Given the description of an element on the screen output the (x, y) to click on. 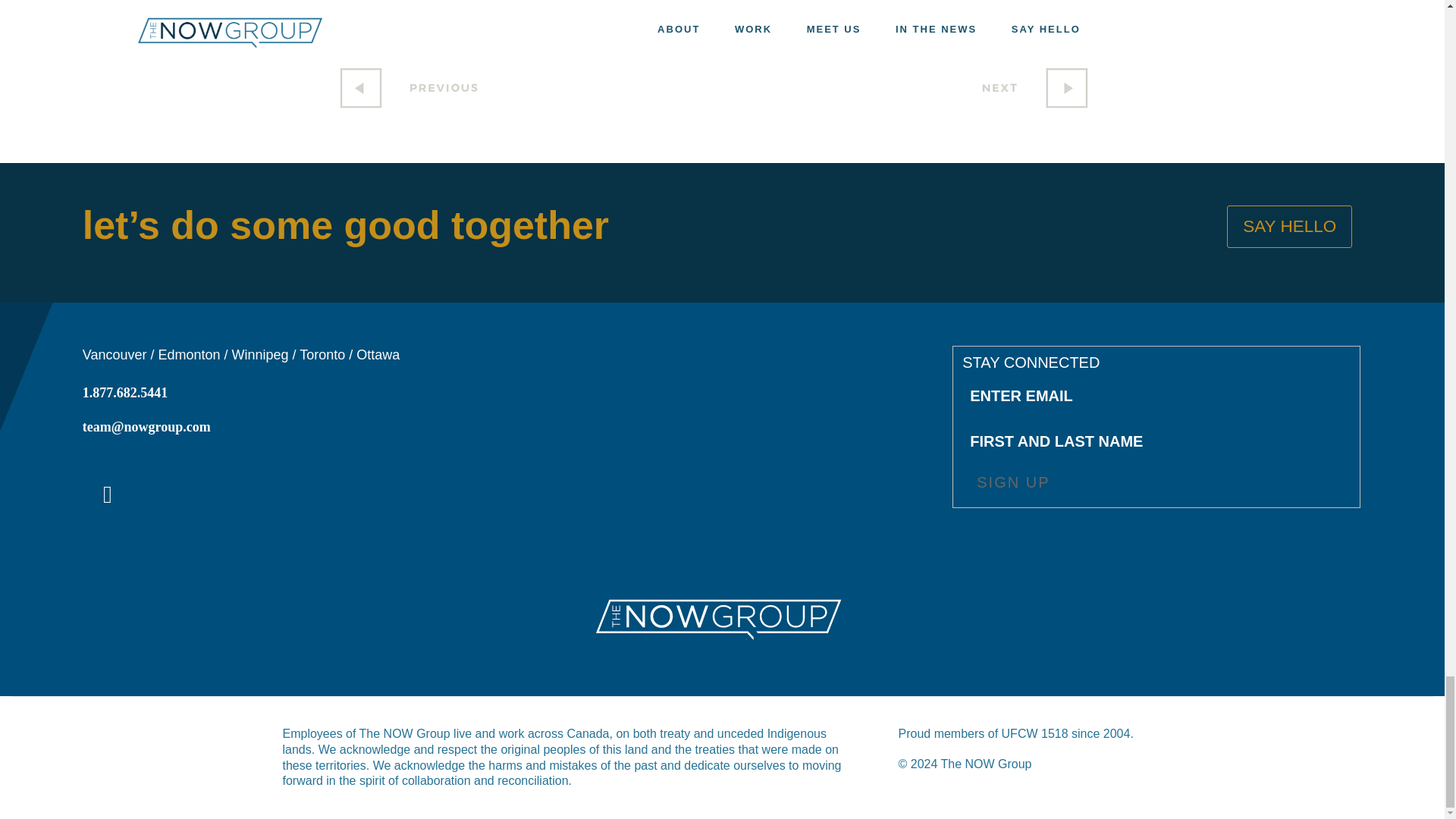
SAY HELLO (1289, 226)
SIGN UP (1012, 484)
LinkedIn (107, 493)
LinkedIn (107, 497)
